Given the description of an element on the screen output the (x, y) to click on. 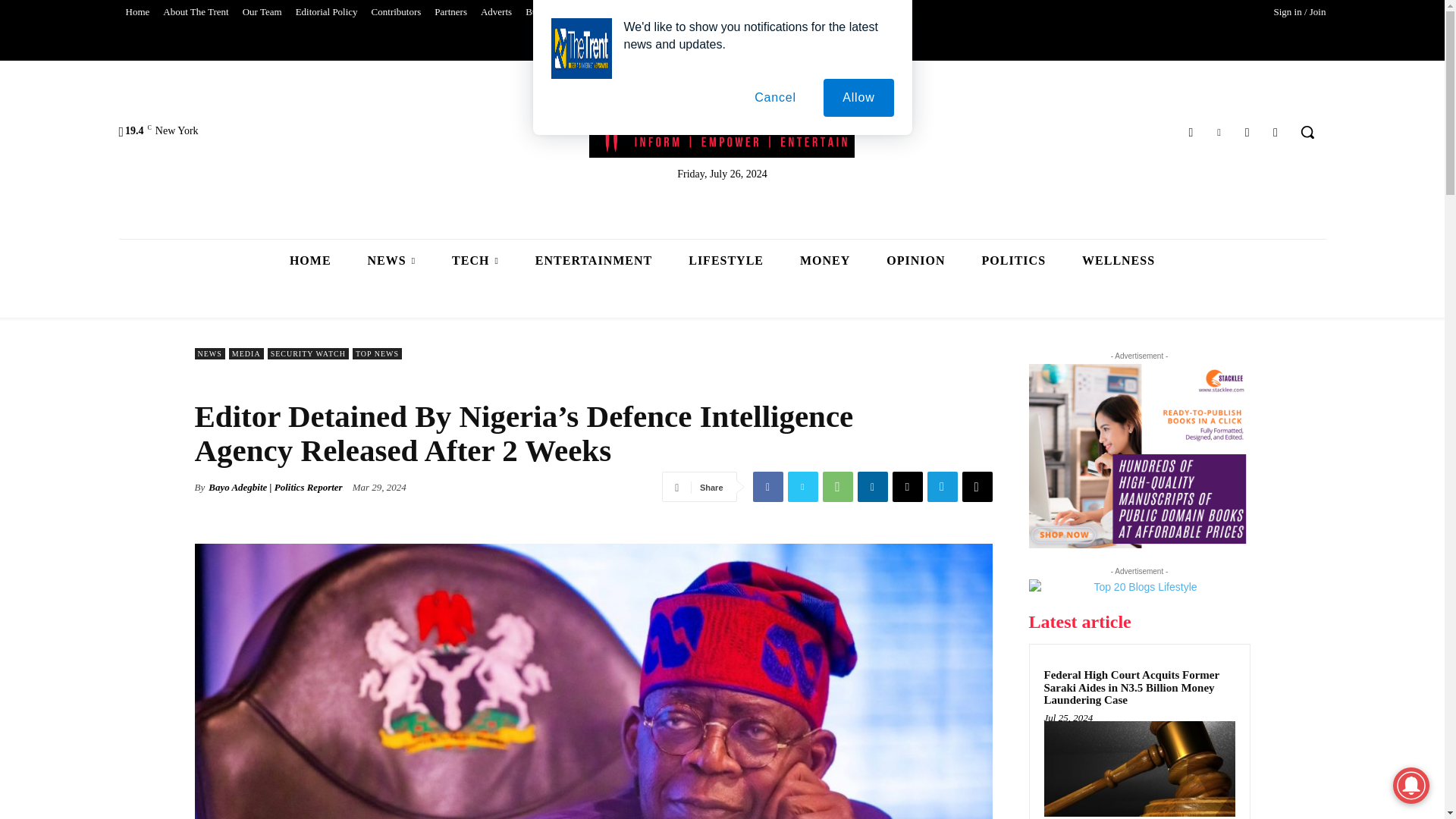
Instagram (1246, 132)
Facebook (1190, 132)
Twitter (1218, 132)
Rss (1275, 132)
